Given the description of an element on the screen output the (x, y) to click on. 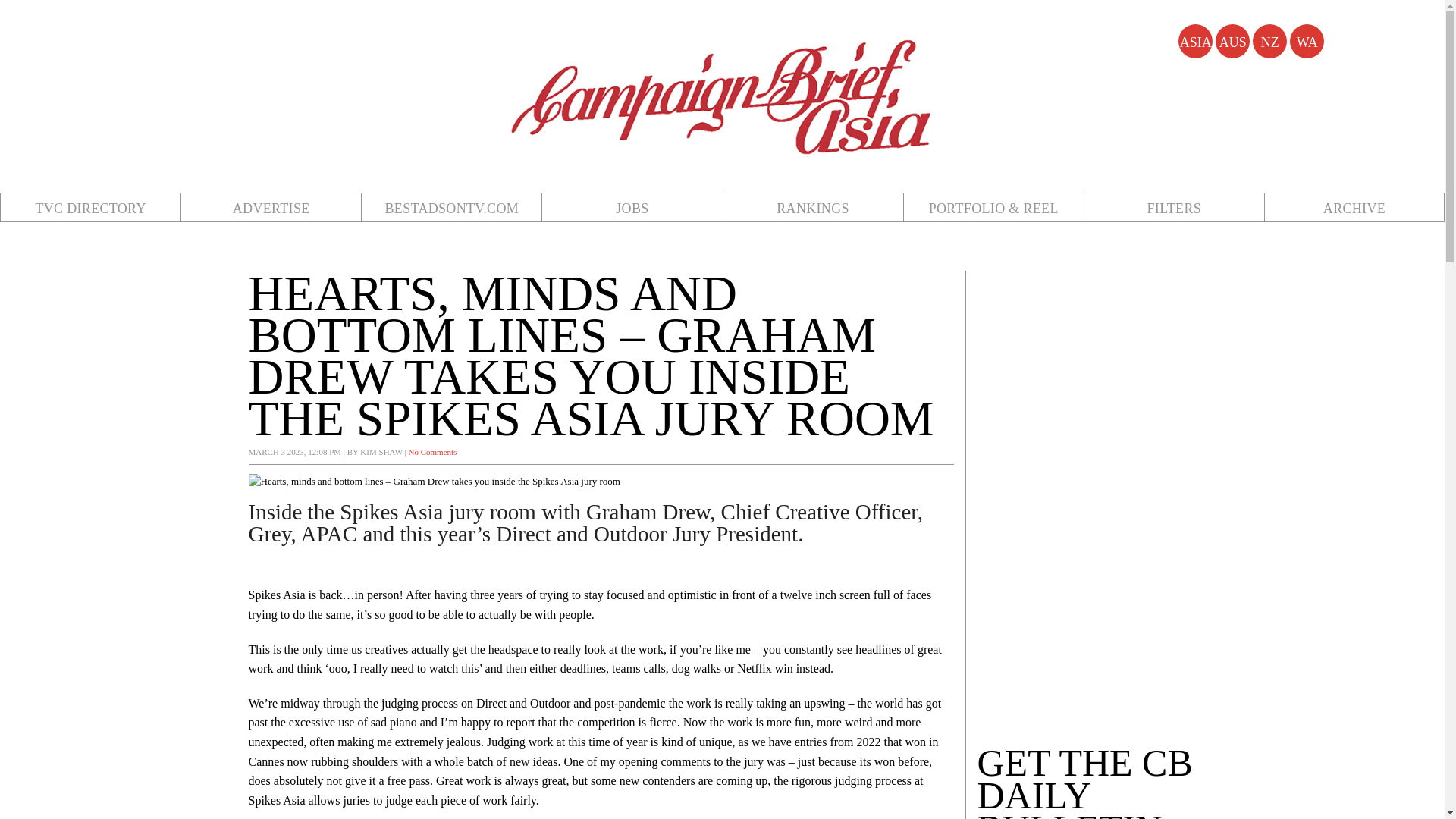
AUS (1232, 41)
NZ (1269, 41)
ASIA (1194, 41)
